Given the description of an element on the screen output the (x, y) to click on. 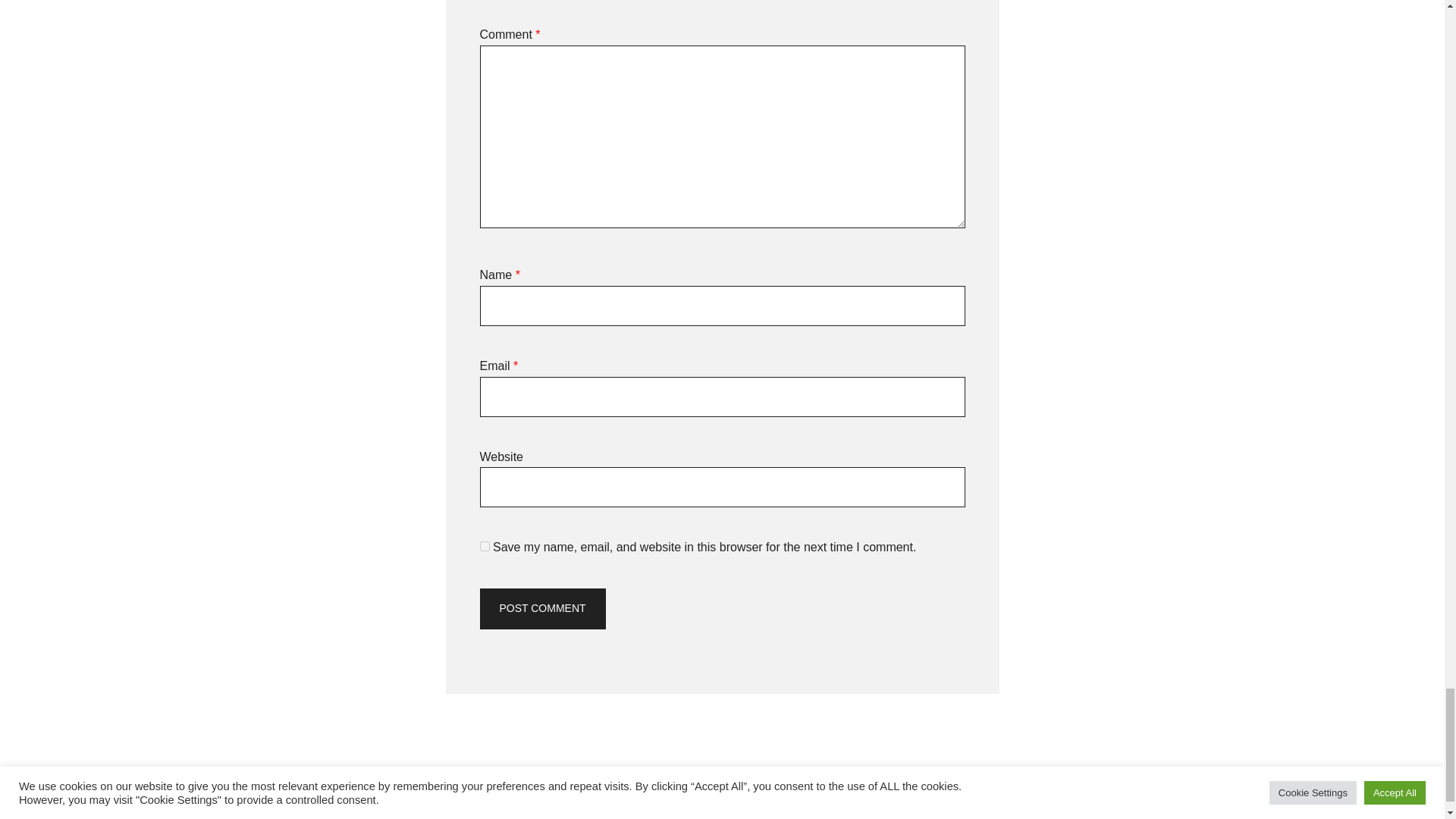
yes (484, 546)
Botiga (593, 817)
Post Comment (542, 608)
Post Comment (542, 608)
